Given the description of an element on the screen output the (x, y) to click on. 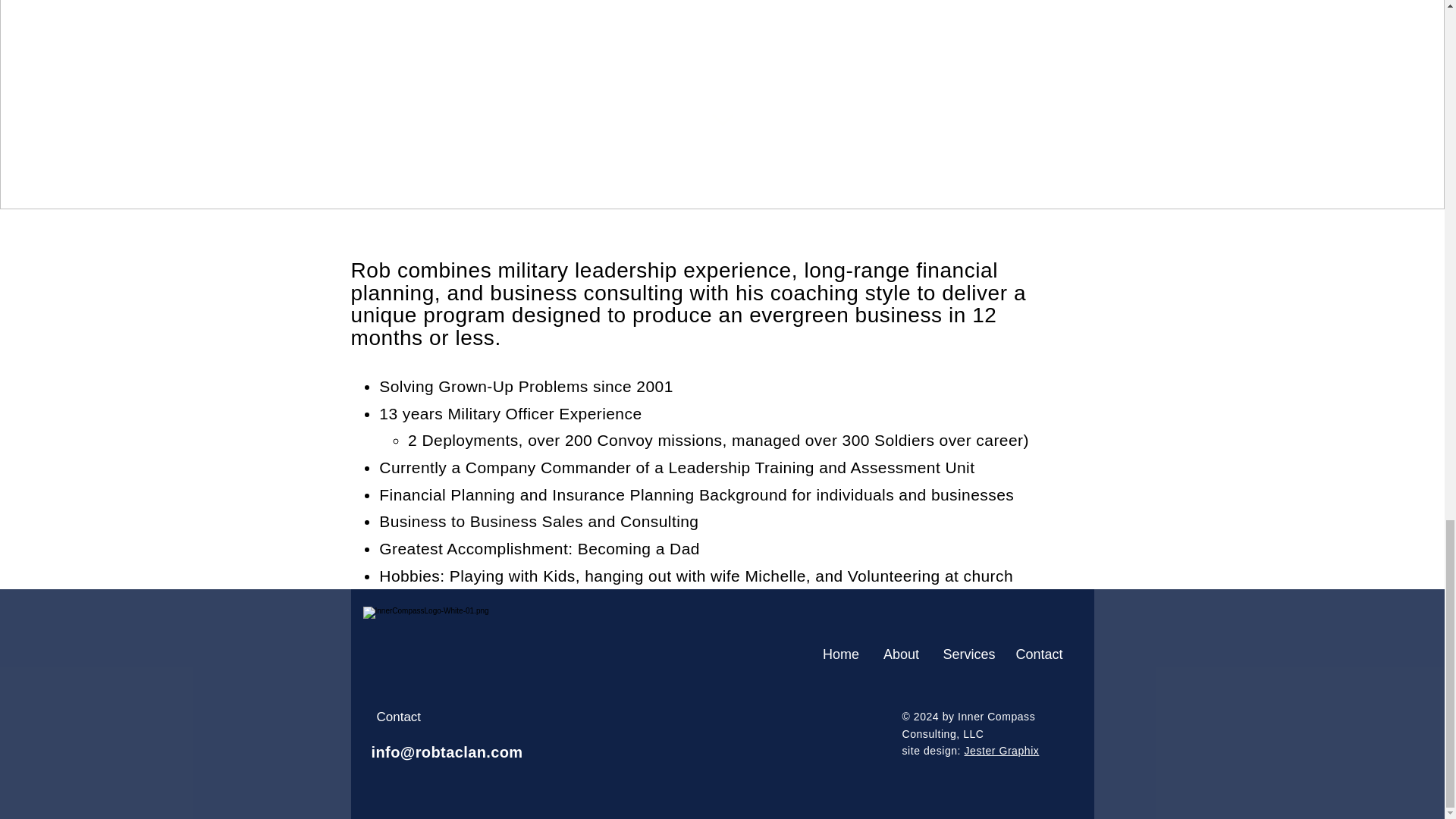
Contact (1039, 654)
Jester Graphix (1001, 750)
About (900, 654)
Home (840, 654)
Services (967, 654)
